Given the description of an element on the screen output the (x, y) to click on. 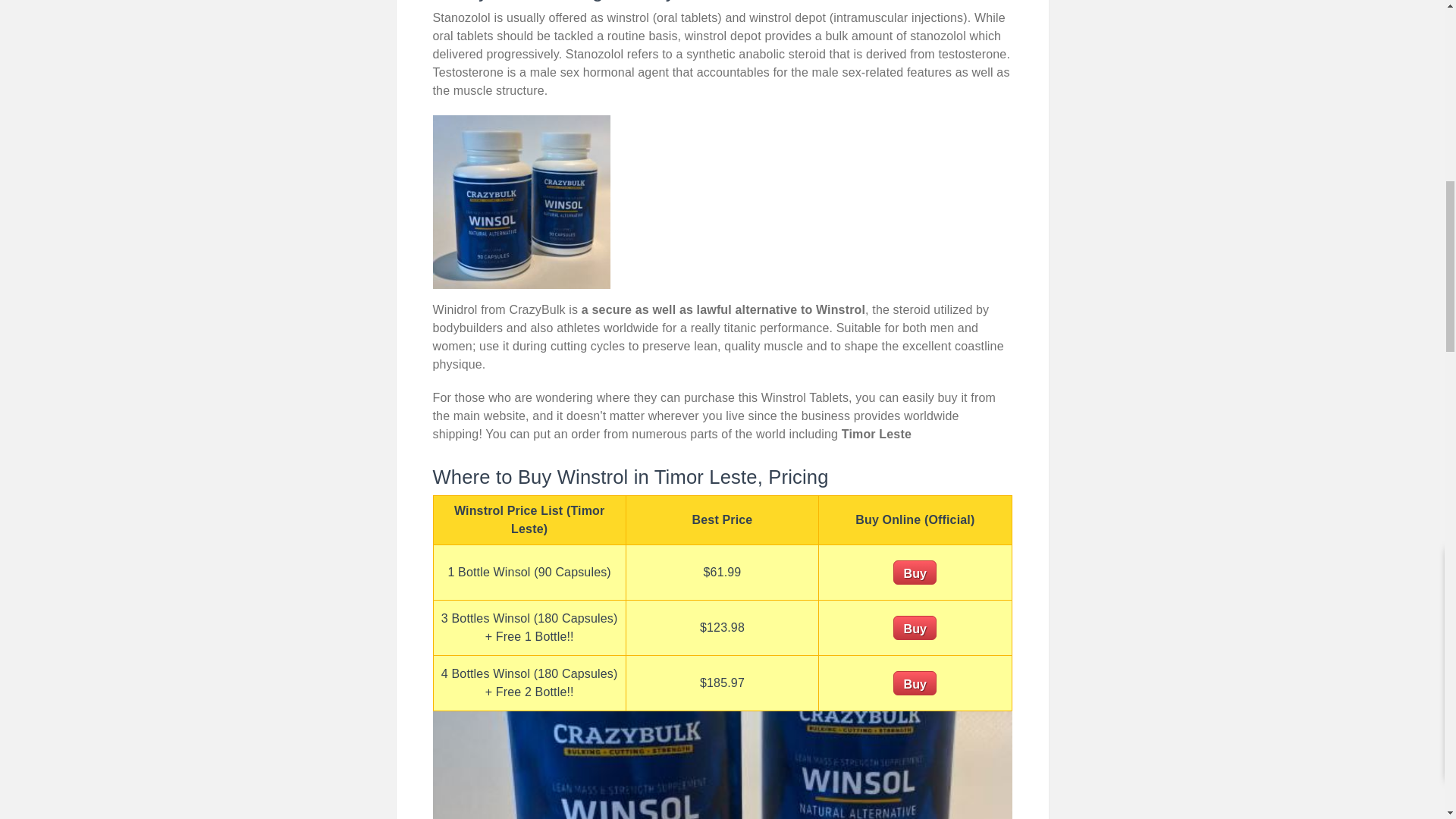
Where to Purchase Winstrol in Timor Leste (521, 202)
